Given the description of an element on the screen output the (x, y) to click on. 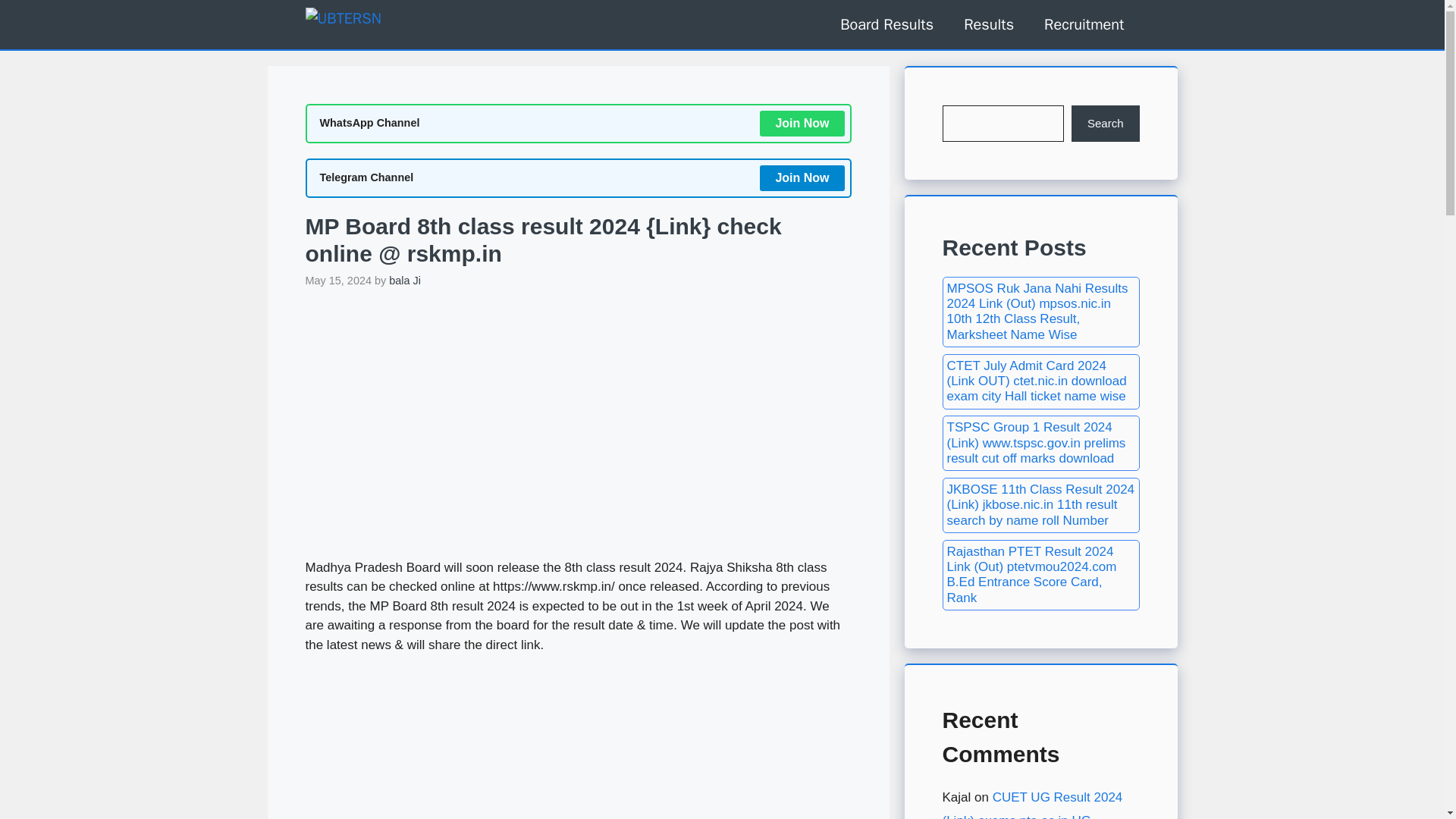
UBTERSN (382, 24)
Search (1105, 123)
Join Now (802, 177)
Recruitment (1083, 24)
Join Now (802, 123)
Results (989, 24)
bala Ji (404, 280)
Board Results (887, 24)
View all posts by bala Ji (404, 280)
